Given the description of an element on the screen output the (x, y) to click on. 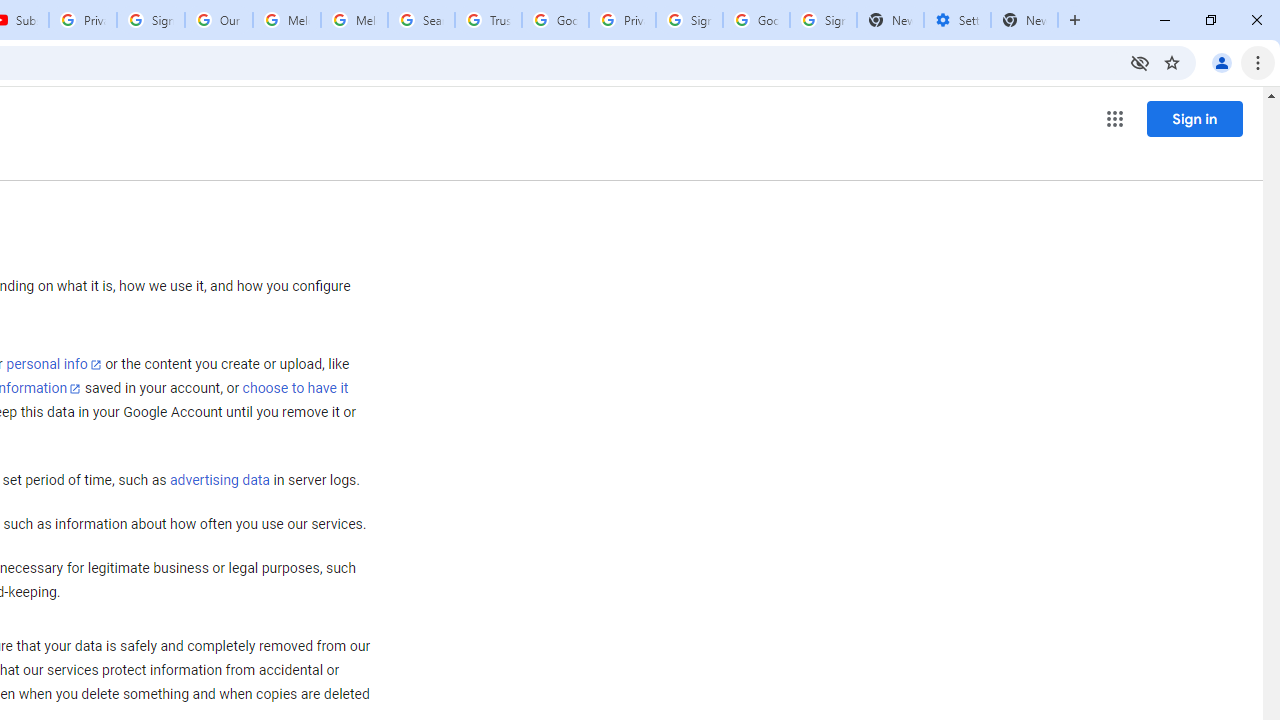
Sign in (1194, 118)
Third-party cookies blocked (1139, 62)
Search our Doodle Library Collection - Google Doodles (420, 20)
Sign in - Google Accounts (689, 20)
Sign in - Google Accounts (150, 20)
Google Ads - Sign in (555, 20)
Trusted Information and Content - Google Safety Center (488, 20)
New Tab (1024, 20)
